Given the description of an element on the screen output the (x, y) to click on. 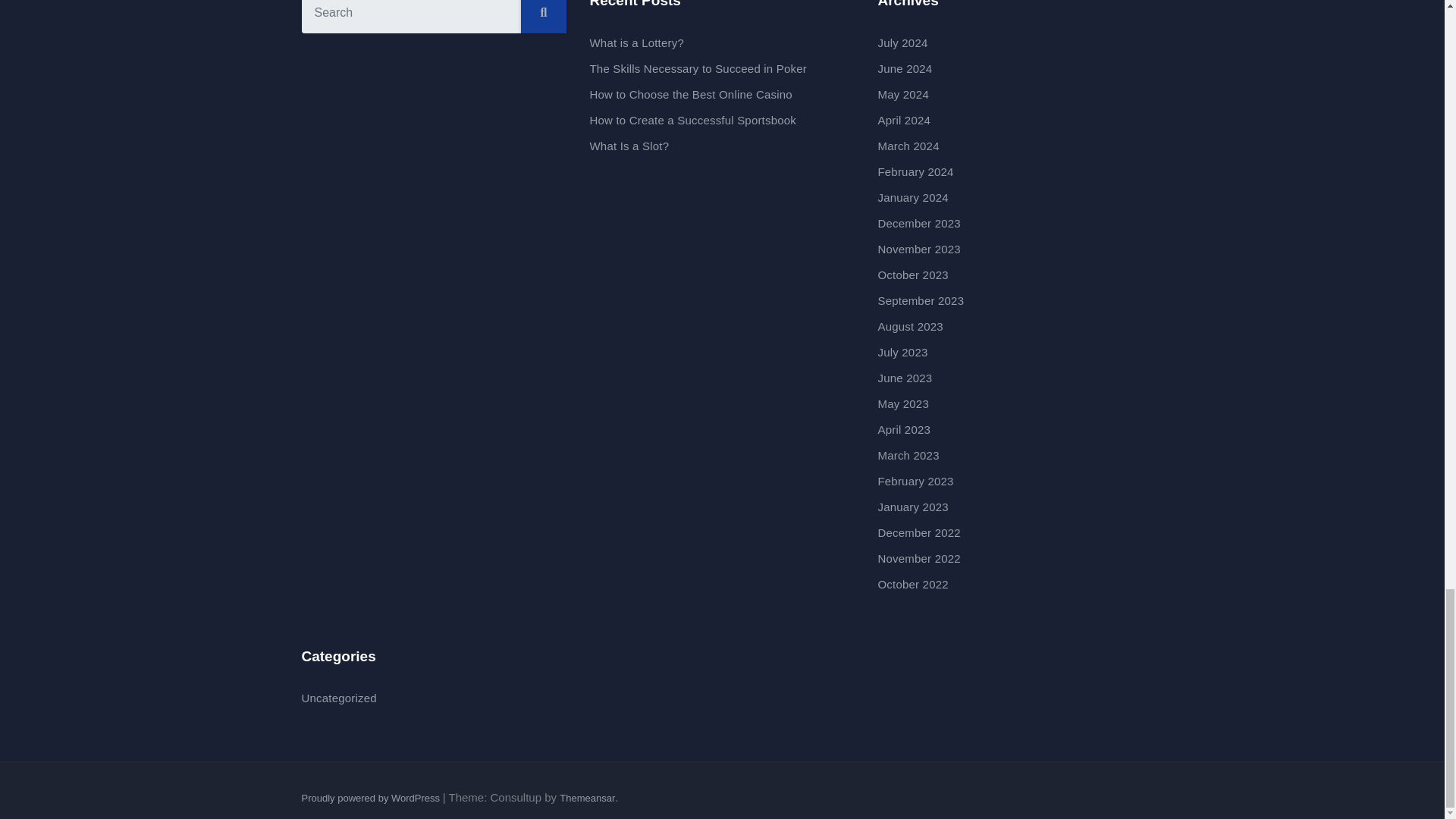
The Skills Necessary to Succeed in Poker (697, 68)
What is a Lottery? (636, 42)
How to Choose the Best Online Casino (690, 93)
